Given the description of an element on the screen output the (x, y) to click on. 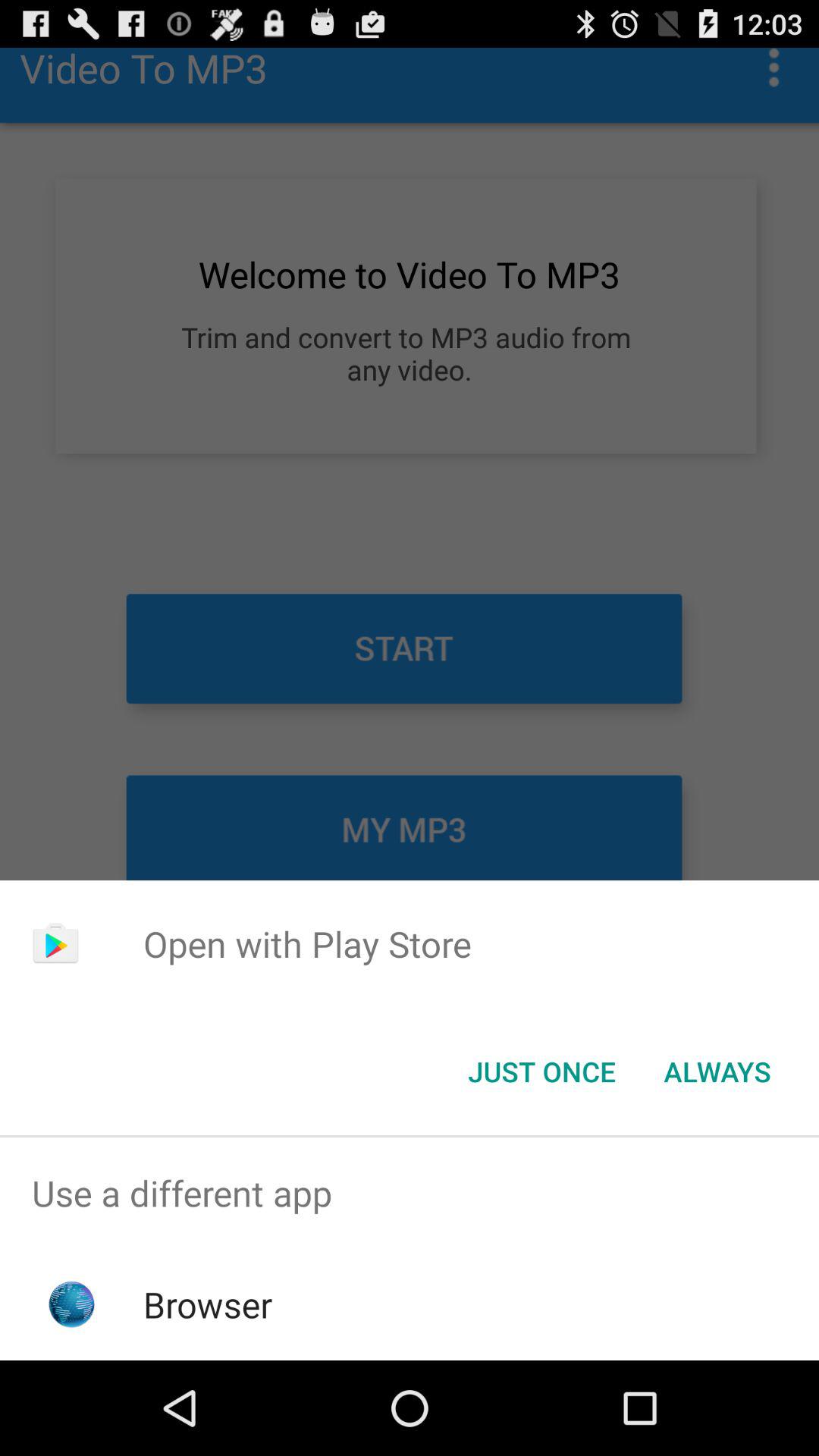
tap the icon below open with play icon (717, 1071)
